Given the description of an element on the screen output the (x, y) to click on. 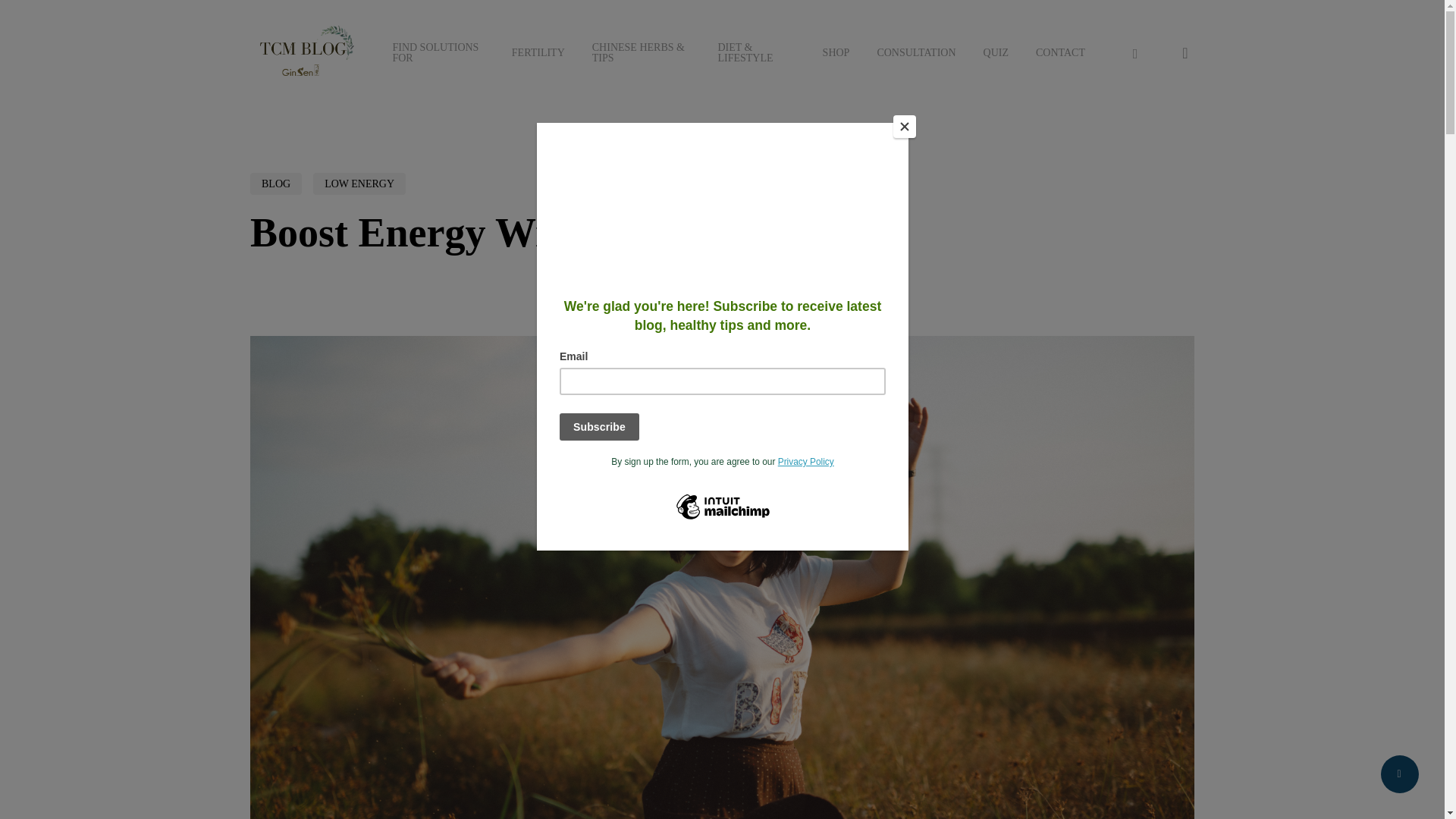
SHOP (836, 52)
FERTILITY (538, 52)
FIND SOLUTIONS FOR (437, 52)
